Given the description of an element on the screen output the (x, y) to click on. 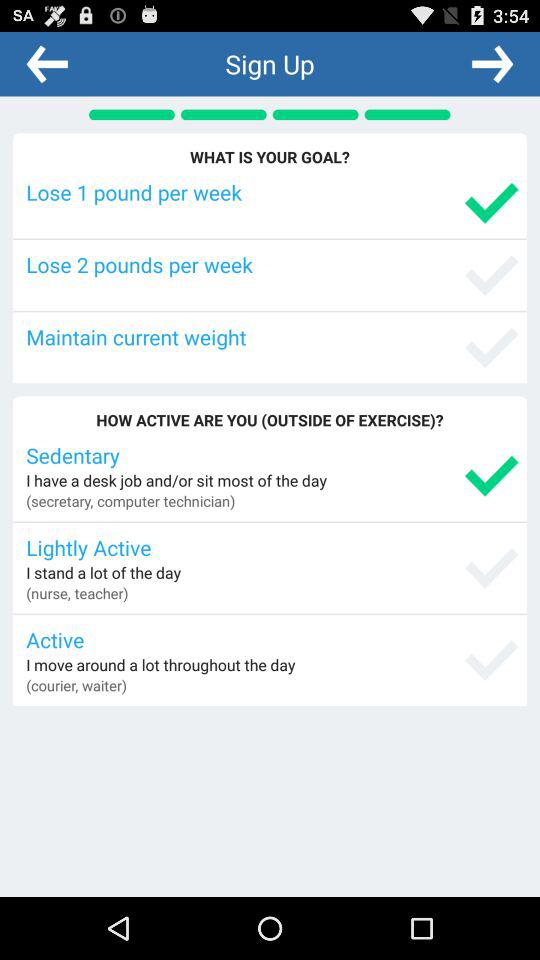
flip to (nurse, teacher) (77, 593)
